Given the description of an element on the screen output the (x, y) to click on. 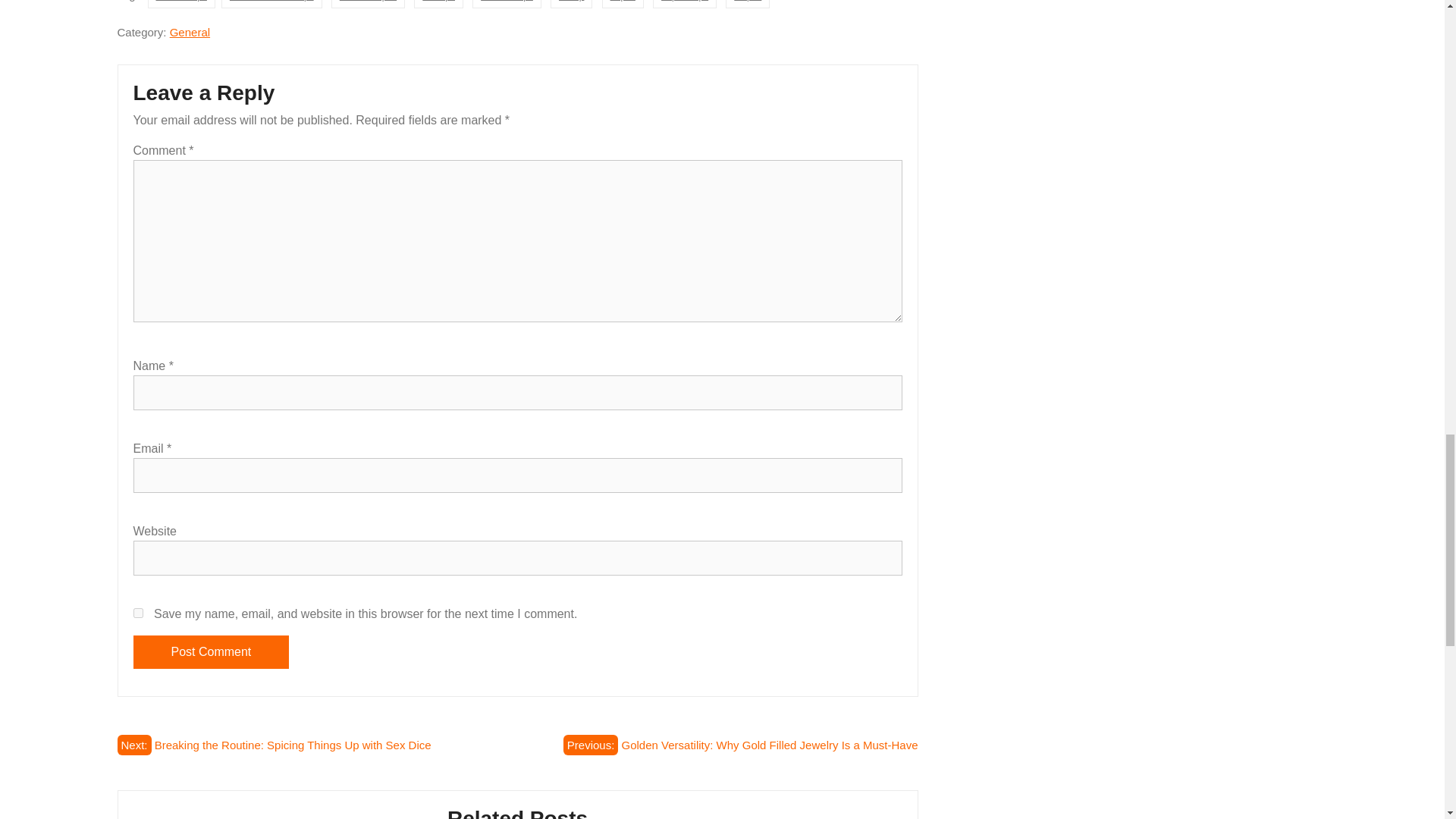
Next: Breaking the Routine: Spicing Things Up with Sex Dice (273, 744)
silipint cups (684, 4)
Post Comment (211, 652)
yes (137, 613)
sillipint (747, 4)
custom silipint (367, 4)
silipint (622, 4)
silicone cups (506, 4)
General (189, 31)
